Given the description of an element on the screen output the (x, y) to click on. 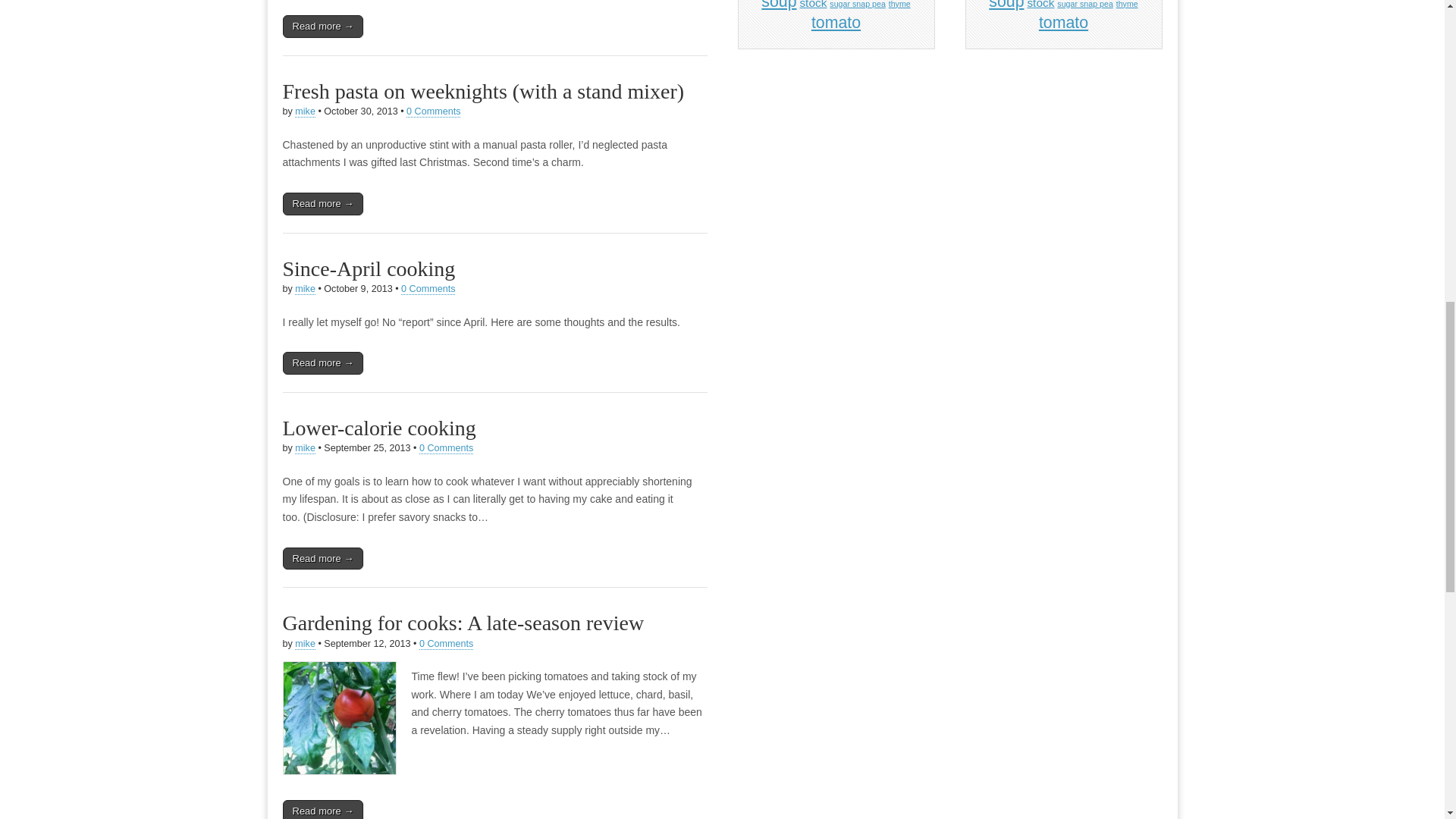
0 Comments (446, 644)
Gardening for cooks: A late-season review (462, 622)
0 Comments (446, 448)
0 Comments (427, 288)
mike (305, 111)
Posts by mike (305, 448)
mike (305, 288)
0 Comments (433, 111)
Posts by mike (305, 111)
Posts by mike (305, 644)
Since-April cooking (368, 268)
Posts by mike (305, 288)
mike (305, 644)
mike (305, 448)
Lower-calorie cooking (379, 427)
